Given the description of an element on the screen output the (x, y) to click on. 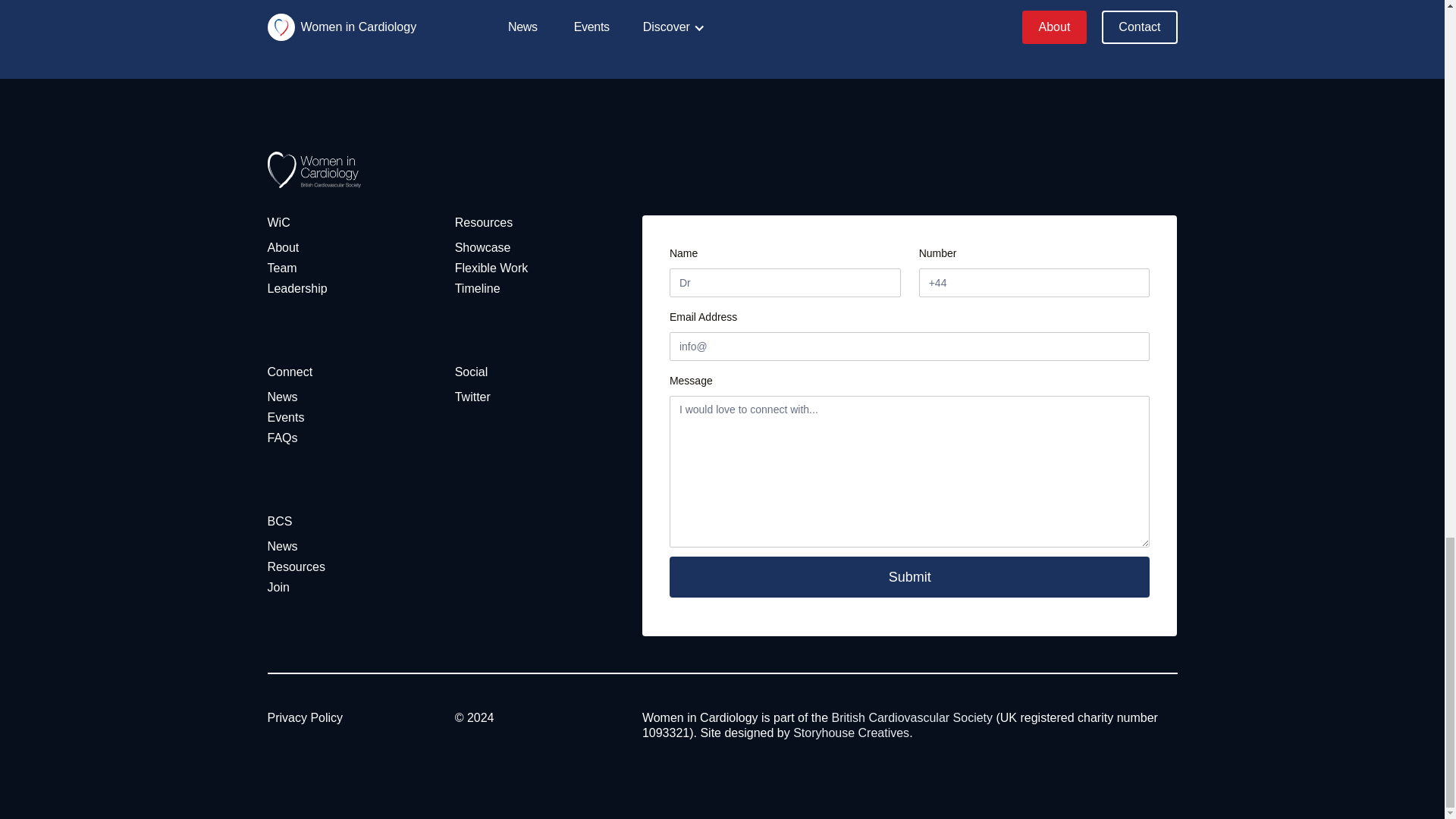
Twitter (472, 397)
About (282, 247)
Submit (909, 576)
News (281, 546)
BCS (279, 521)
Leadership (296, 288)
News (281, 397)
Resources (483, 222)
Connect (289, 371)
Flexible Work (491, 268)
